Given the description of an element on the screen output the (x, y) to click on. 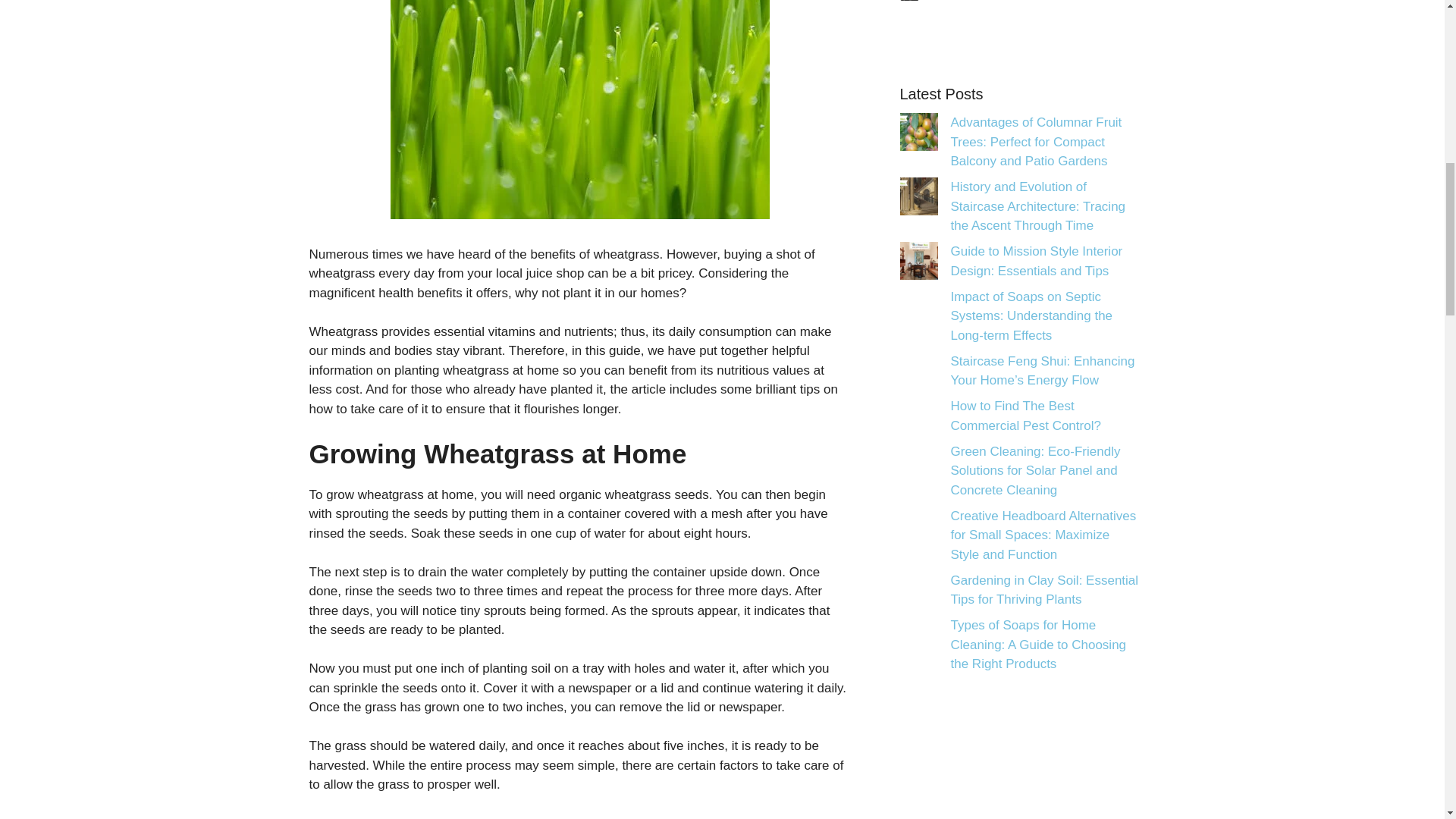
A Complete Guide to Teak Wood (914, 0)
